Given the description of an element on the screen output the (x, y) to click on. 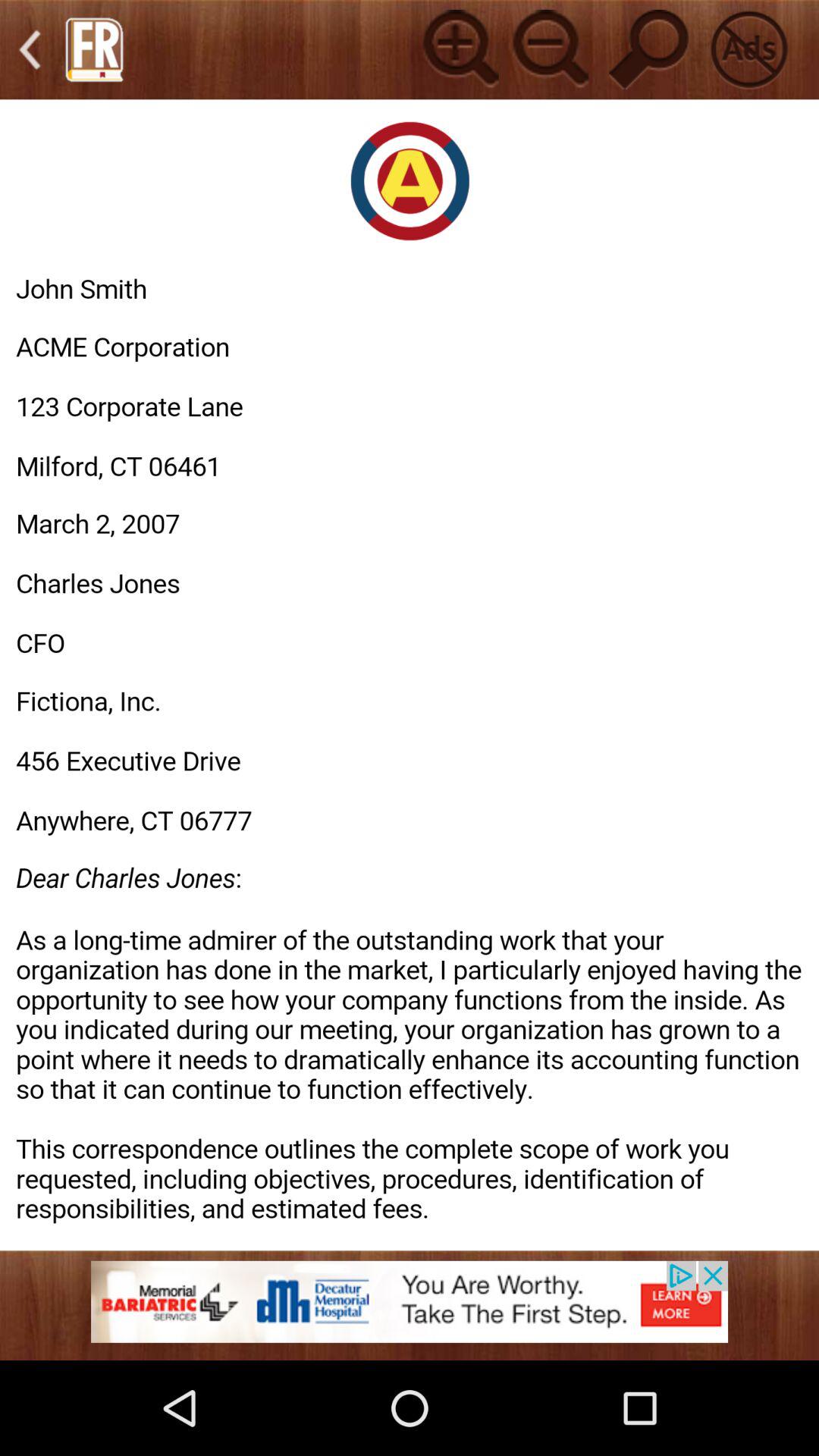
no advertisements button (748, 49)
